Given the description of an element on the screen output the (x, y) to click on. 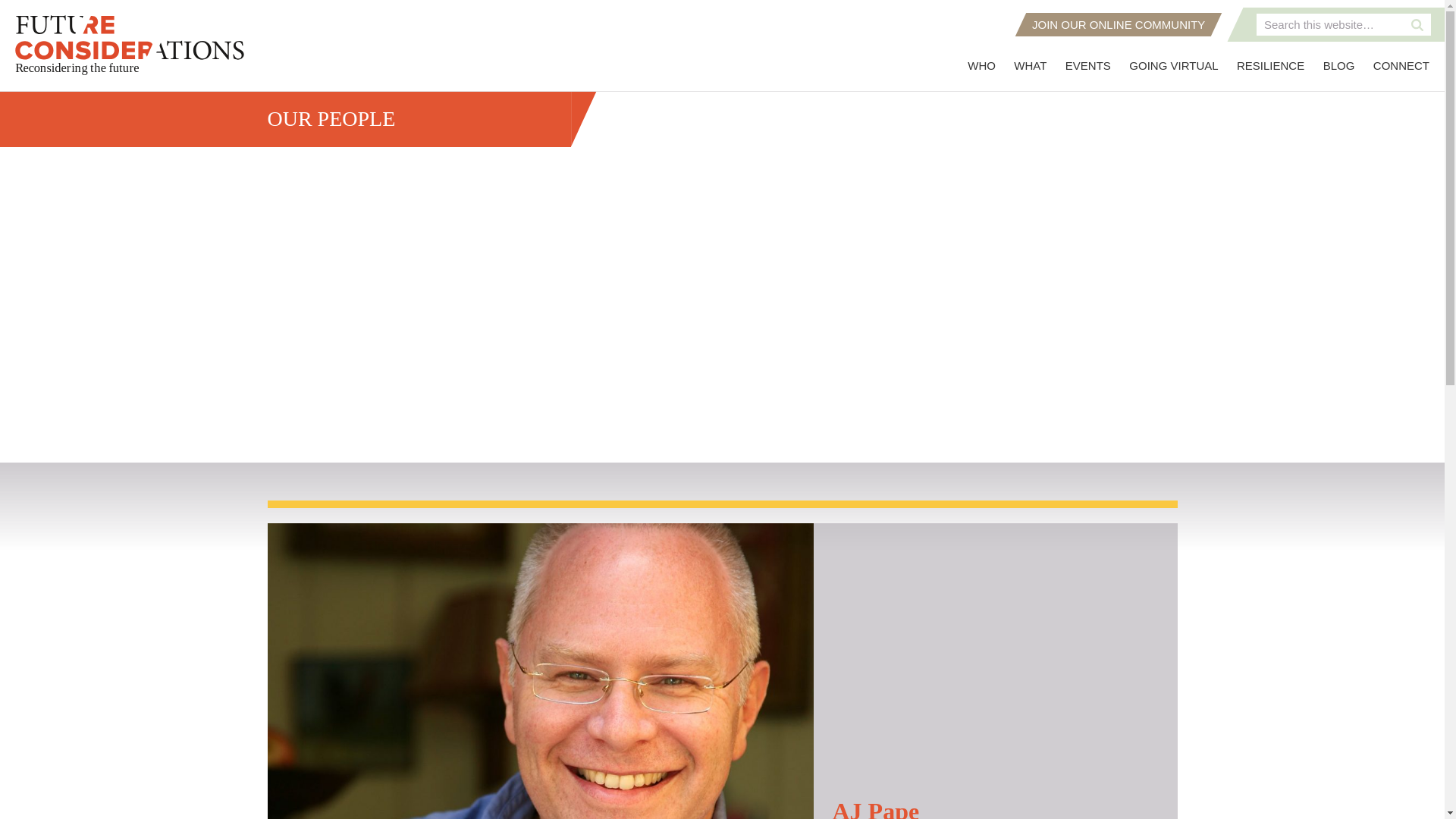
WHO (981, 65)
JOIN OUR ONLINE COMMUNITY (1117, 24)
CONNECT (1401, 65)
RESILIENCE (1269, 65)
EVENTS (1088, 65)
WHAT (1030, 65)
BLOG (1339, 65)
GOING VIRTUAL (1173, 65)
